Given the description of an element on the screen output the (x, y) to click on. 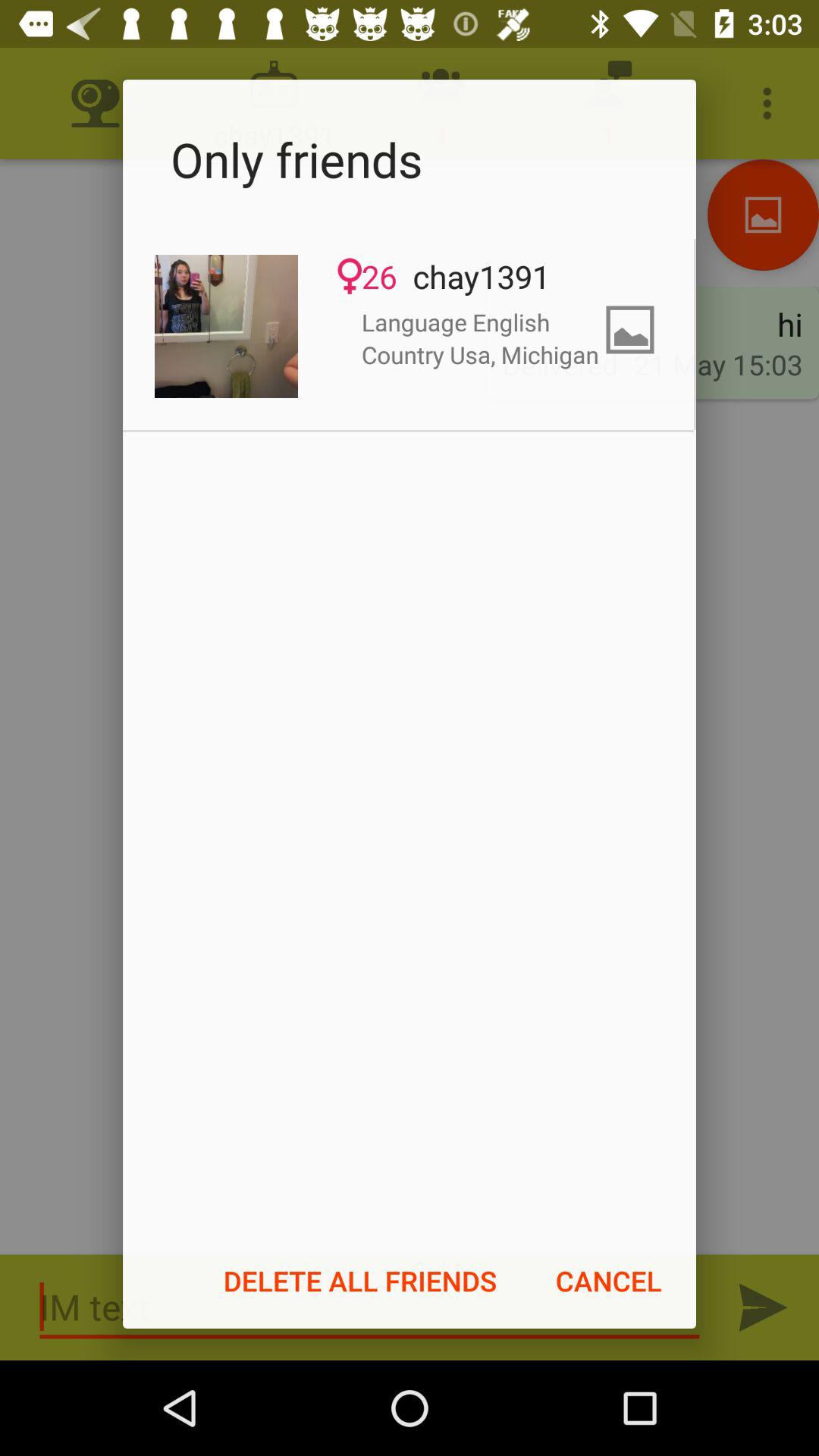
choose the icon at the top left corner (226, 326)
